Given the description of an element on the screen output the (x, y) to click on. 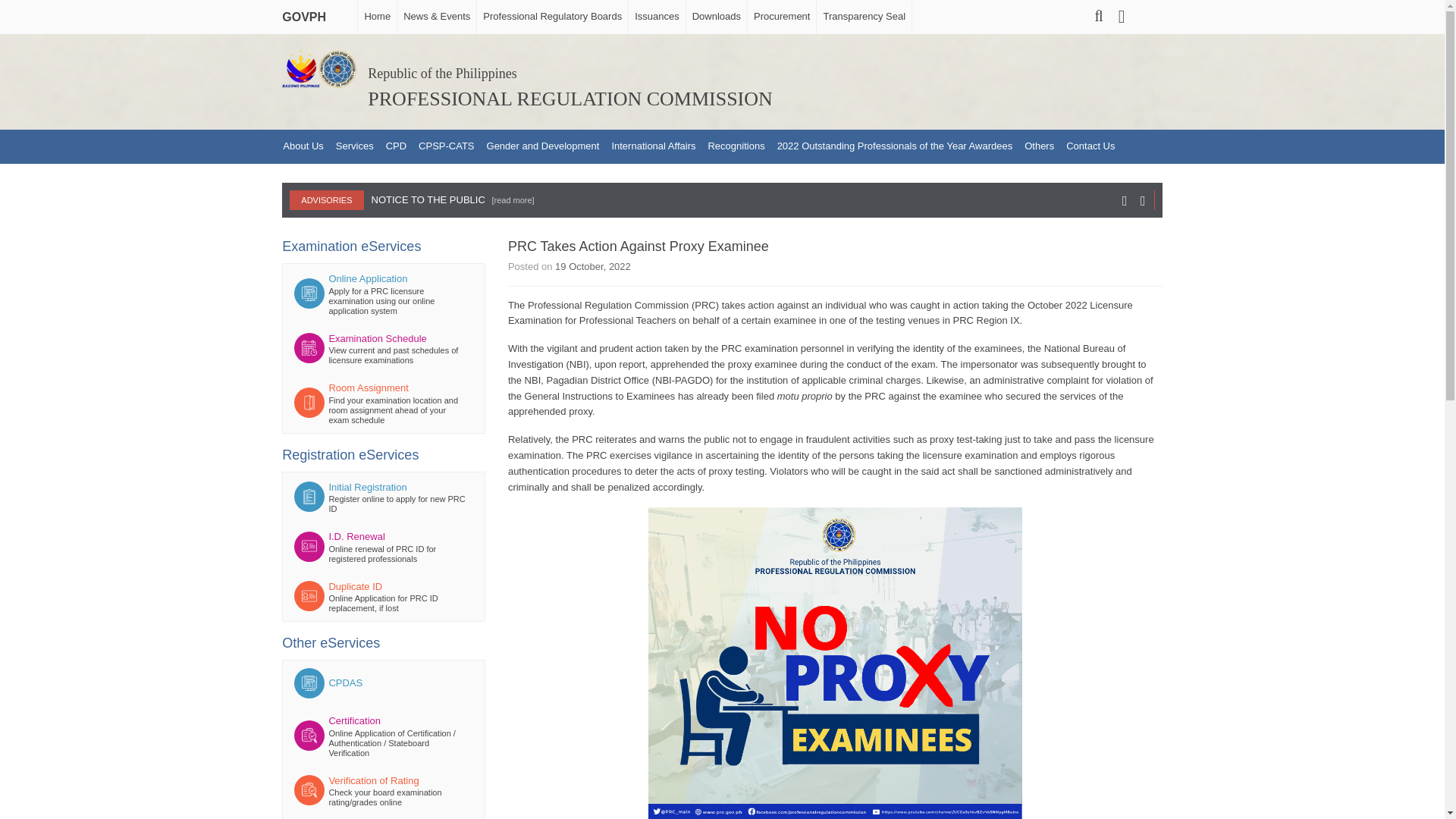
Issuances (656, 17)
GOVPH (308, 13)
Transparency Seal (863, 17)
Professional Regulatory Boards (551, 17)
Home (376, 17)
Downloads (715, 17)
Procurement (780, 17)
